Given the description of an element on the screen output the (x, y) to click on. 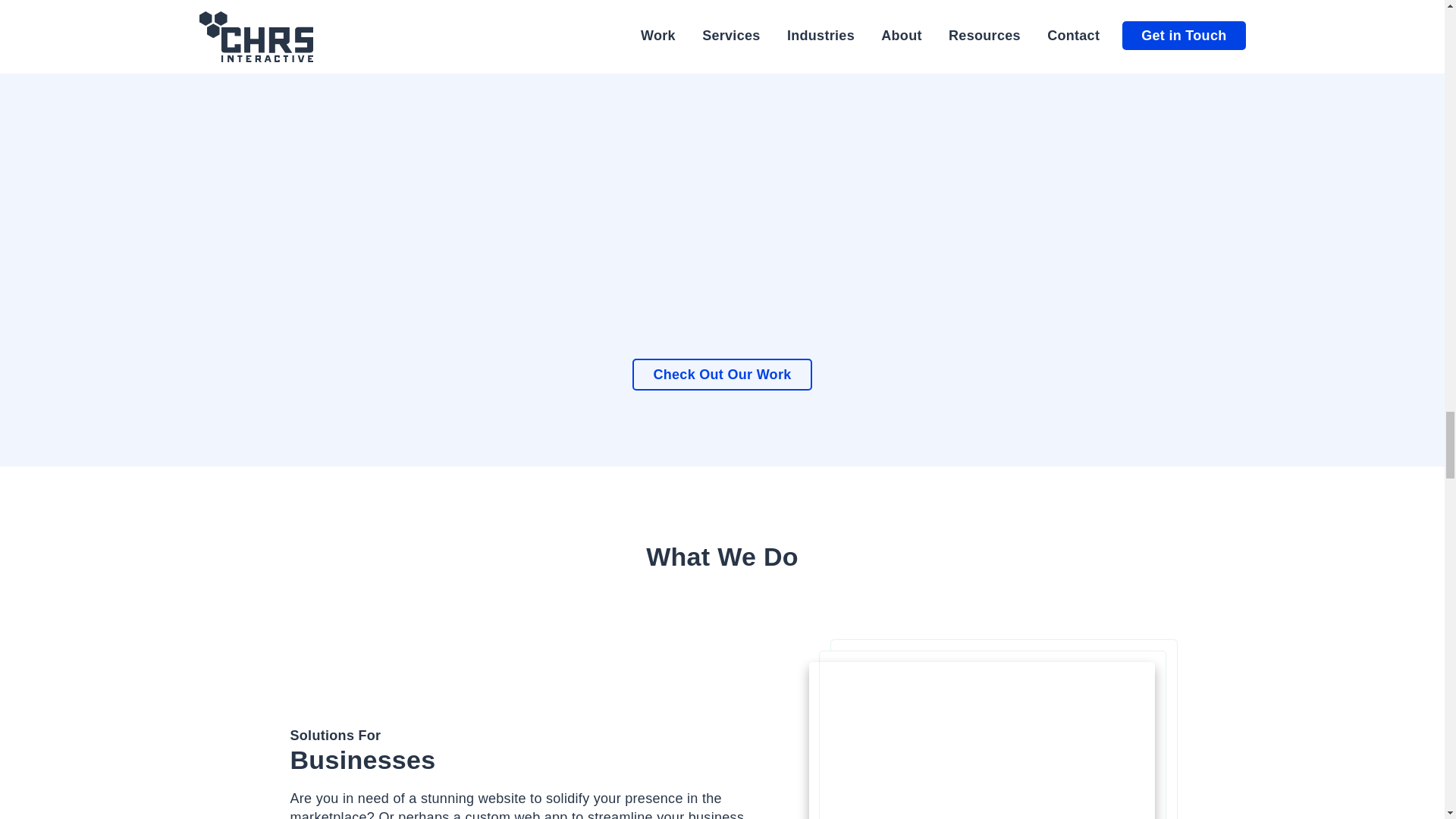
View All Work (1242, 164)
View All Work (548, 164)
View More Work (720, 374)
View All Work (201, 164)
View All Work (896, 164)
